Given the description of an element on the screen output the (x, y) to click on. 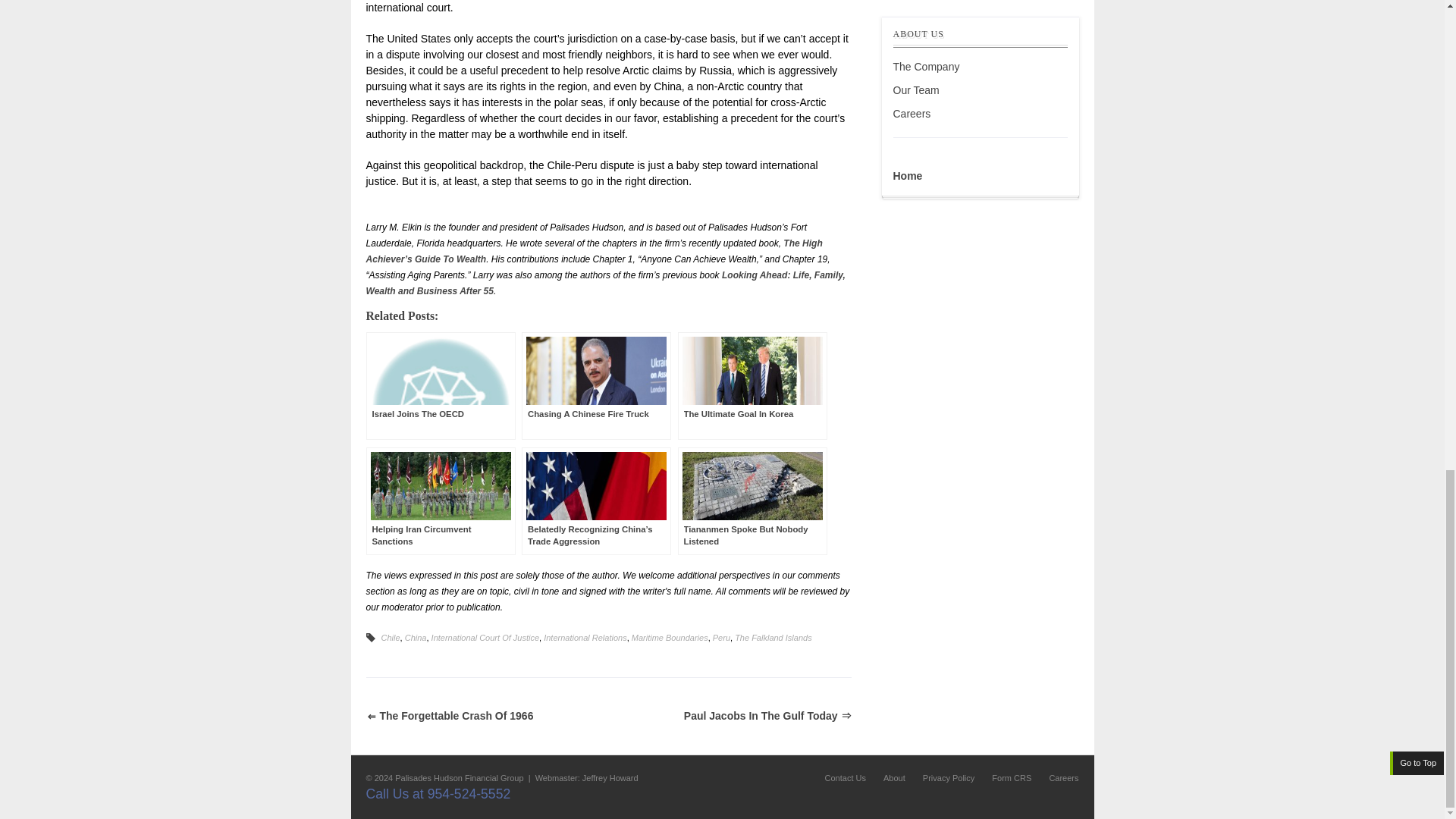
Chile (389, 637)
Helping Iran Circumvent Sanctions (440, 501)
China (415, 637)
Israel Joins The OECD (440, 385)
Israel Joins The OECD (440, 385)
The Ultimate Goal In Korea (752, 385)
Chasing A Chinese Fire Truck (596, 385)
The Ultimate Goal In Korea (752, 385)
Helping Iran Circumvent Sanctions (440, 501)
Tiananmen Spoke But Nobody Listened (752, 501)
Looking Ahead: Life, Family, Wealth and Business After 55 (604, 283)
Chasing A Chinese Fire Truck (596, 385)
